Given the description of an element on the screen output the (x, y) to click on. 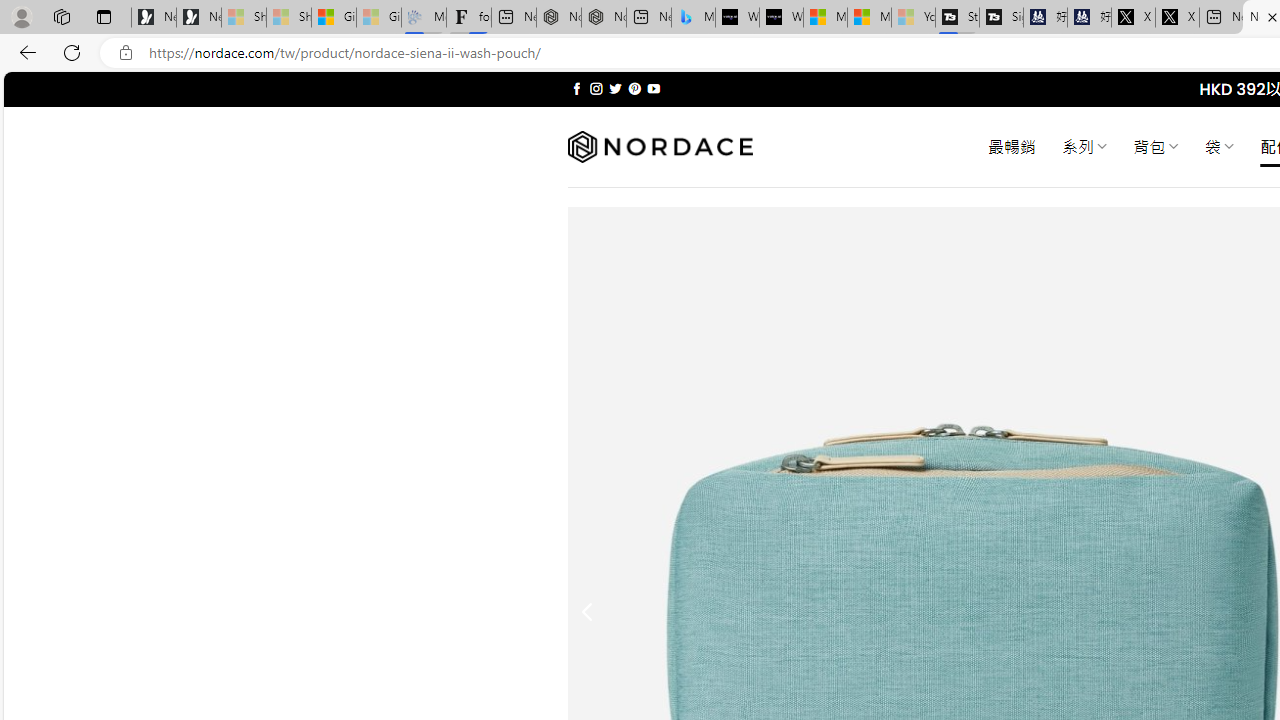
Microsoft Start Sports (825, 17)
Streaming Coverage | T3 (957, 17)
Newsletter Sign Up (198, 17)
What's the best AI voice generator? - voice.ai (781, 17)
Follow on YouTube (653, 88)
